Given the description of an element on the screen output the (x, y) to click on. 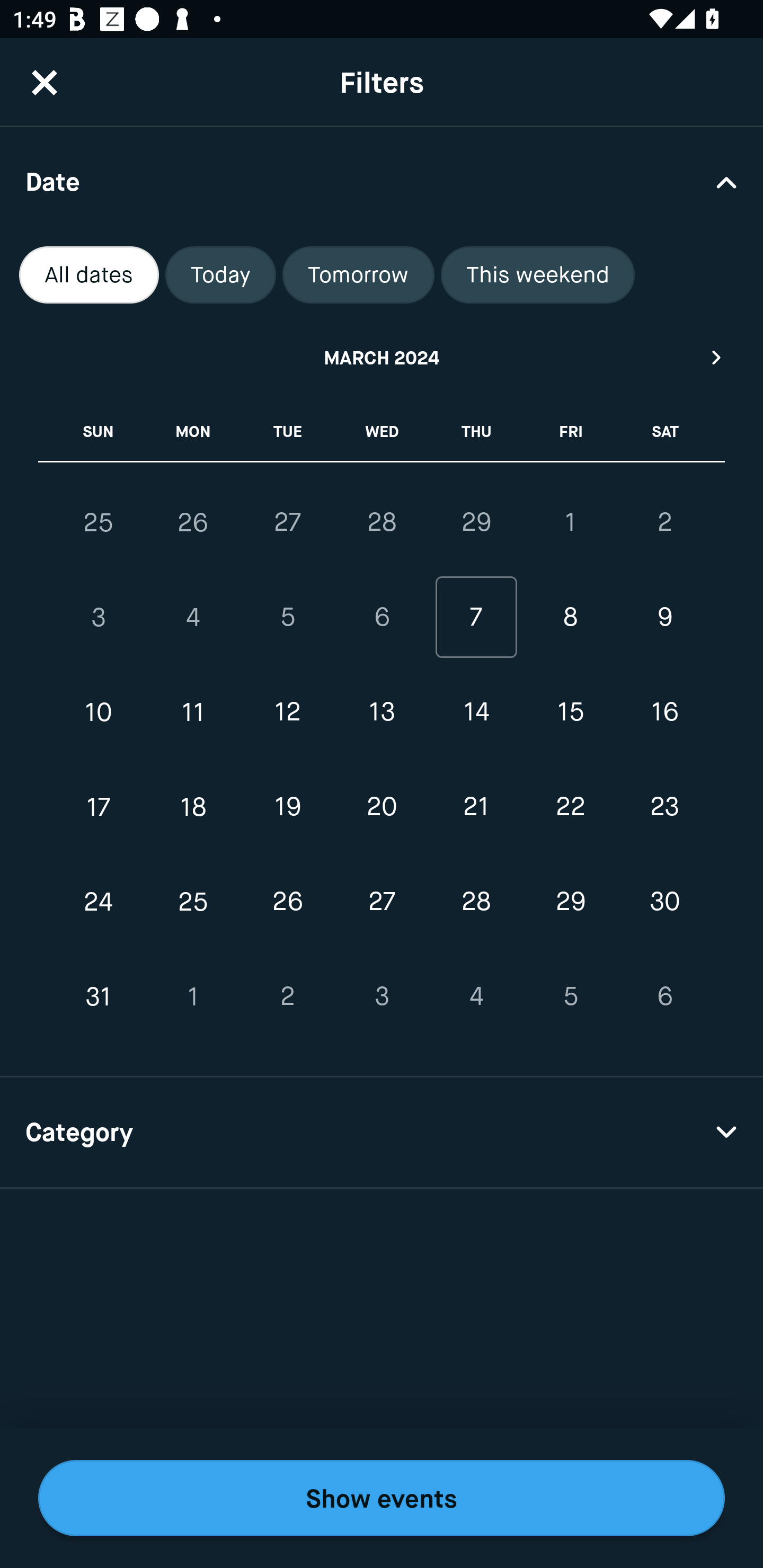
CloseButton (44, 82)
Date Drop Down Arrow (381, 181)
All dates (88, 274)
Today (220, 274)
Tomorrow (358, 274)
This weekend (537, 274)
Next (717, 357)
25 (98, 522)
26 (192, 522)
27 (287, 522)
28 (381, 522)
29 (475, 522)
1 (570, 522)
2 (664, 522)
3 (98, 617)
4 (192, 617)
5 (287, 617)
6 (381, 617)
7 (475, 617)
8 (570, 617)
9 (664, 617)
10 (98, 711)
11 (192, 711)
12 (287, 711)
13 (381, 711)
14 (475, 711)
15 (570, 711)
16 (664, 711)
17 (98, 806)
18 (192, 806)
19 (287, 806)
20 (381, 806)
21 (475, 806)
22 (570, 806)
23 (664, 806)
24 (98, 901)
25 (192, 901)
26 (287, 901)
27 (381, 901)
28 (475, 901)
29 (570, 901)
30 (664, 901)
31 (98, 996)
1 (192, 996)
2 (287, 996)
3 (381, 996)
4 (475, 996)
5 (570, 996)
6 (664, 996)
Category Drop Down Arrow (381, 1132)
Show events (381, 1497)
